Given the description of an element on the screen output the (x, y) to click on. 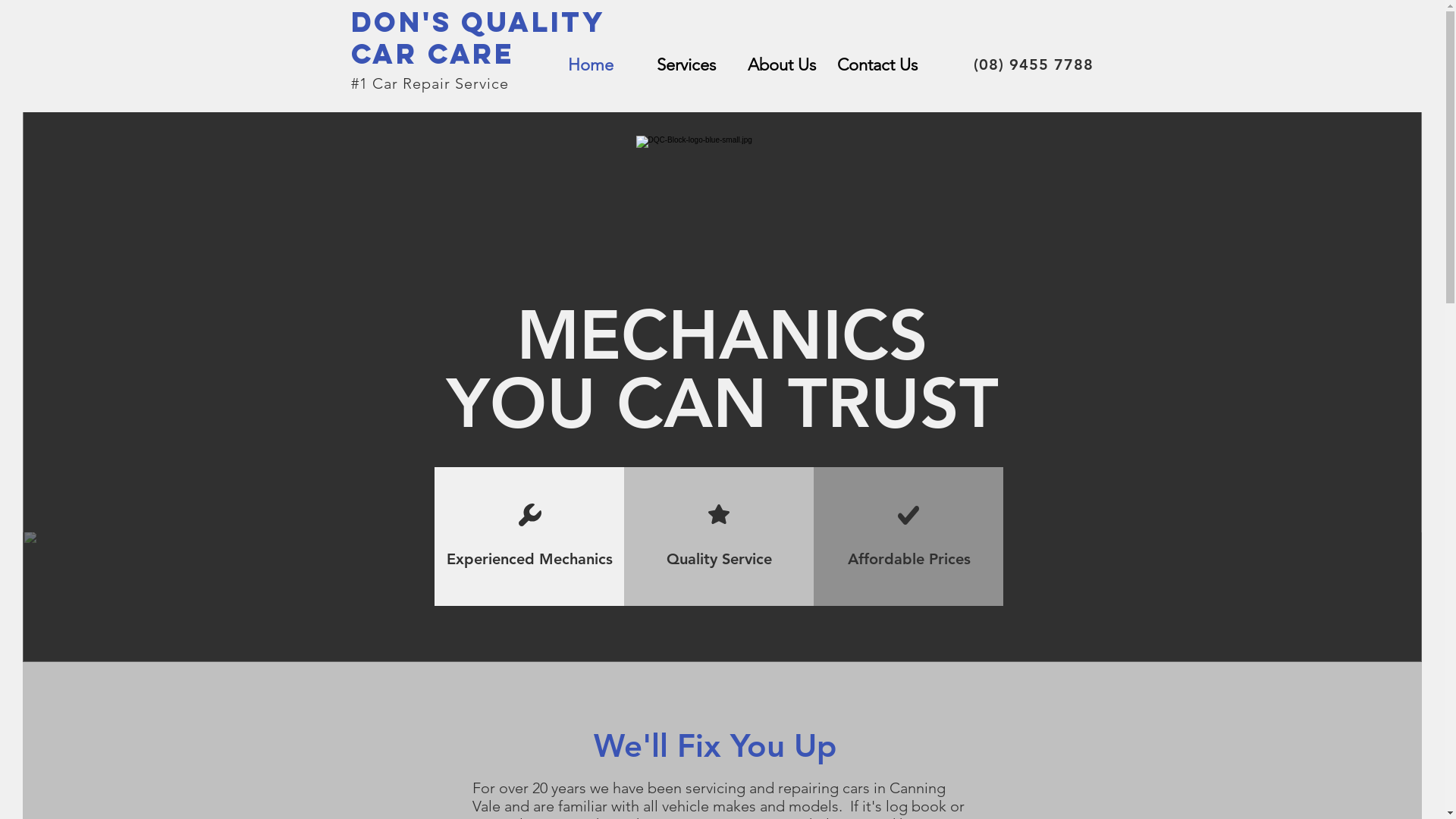
#1 Car Repair Service Element type: text (429, 83)
Services Element type: text (686, 64)
Home Element type: text (590, 64)
CAR CARE Element type: text (432, 53)
About Us Element type: text (781, 64)
DON'S QUALITY Element type: text (477, 21)
Contact Us Element type: text (877, 64)
